Given the description of an element on the screen output the (x, y) to click on. 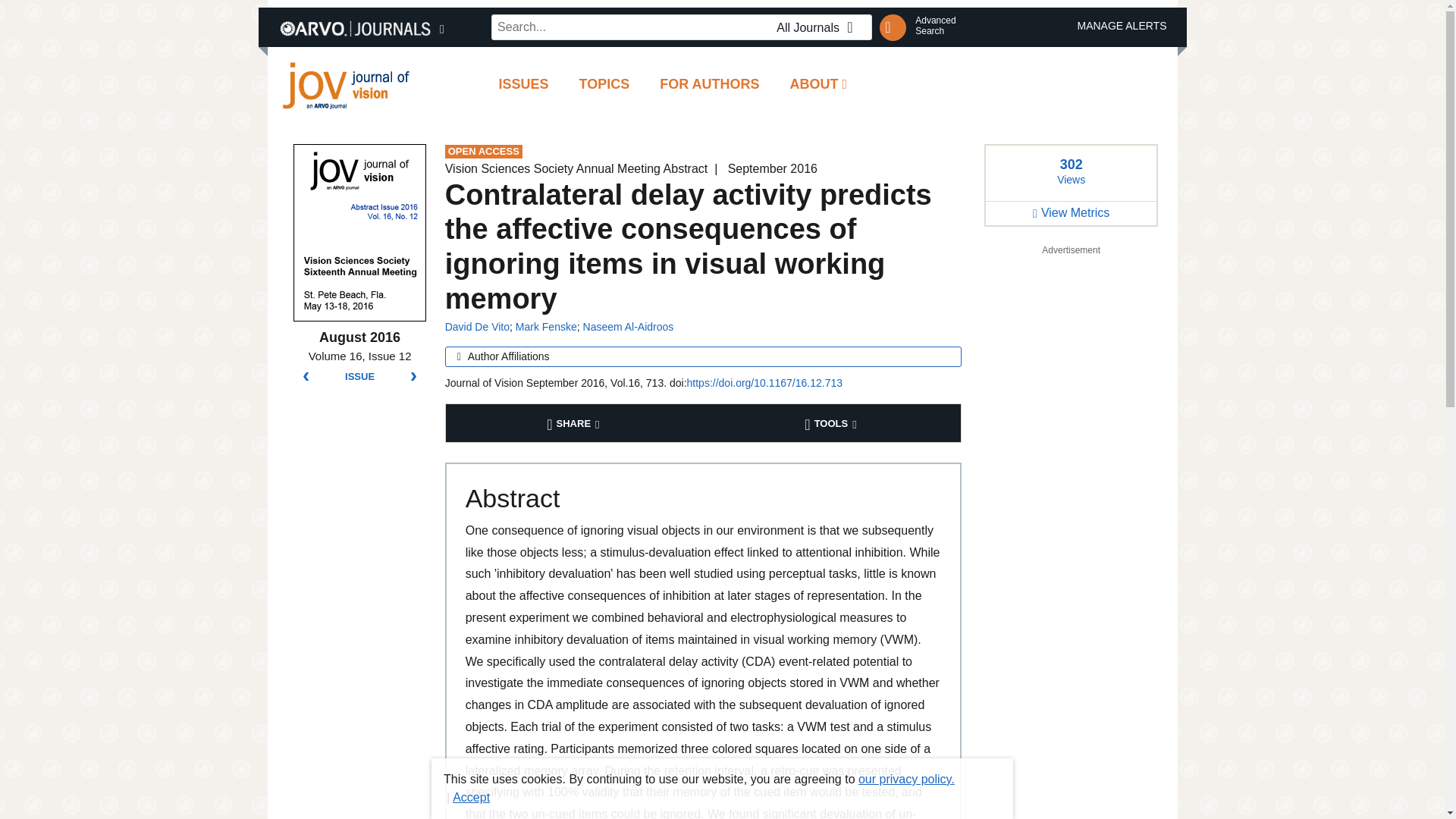
Naseem Al-Aidroos (628, 326)
ISSUE (359, 377)
TOPICS (604, 84)
FOR AUTHORS (709, 84)
ISSUES (523, 84)
David De Vito (477, 326)
SHARE (574, 423)
ABOUT (935, 25)
All Journals (818, 84)
Mark Fenske (819, 27)
